Given the description of an element on the screen output the (x, y) to click on. 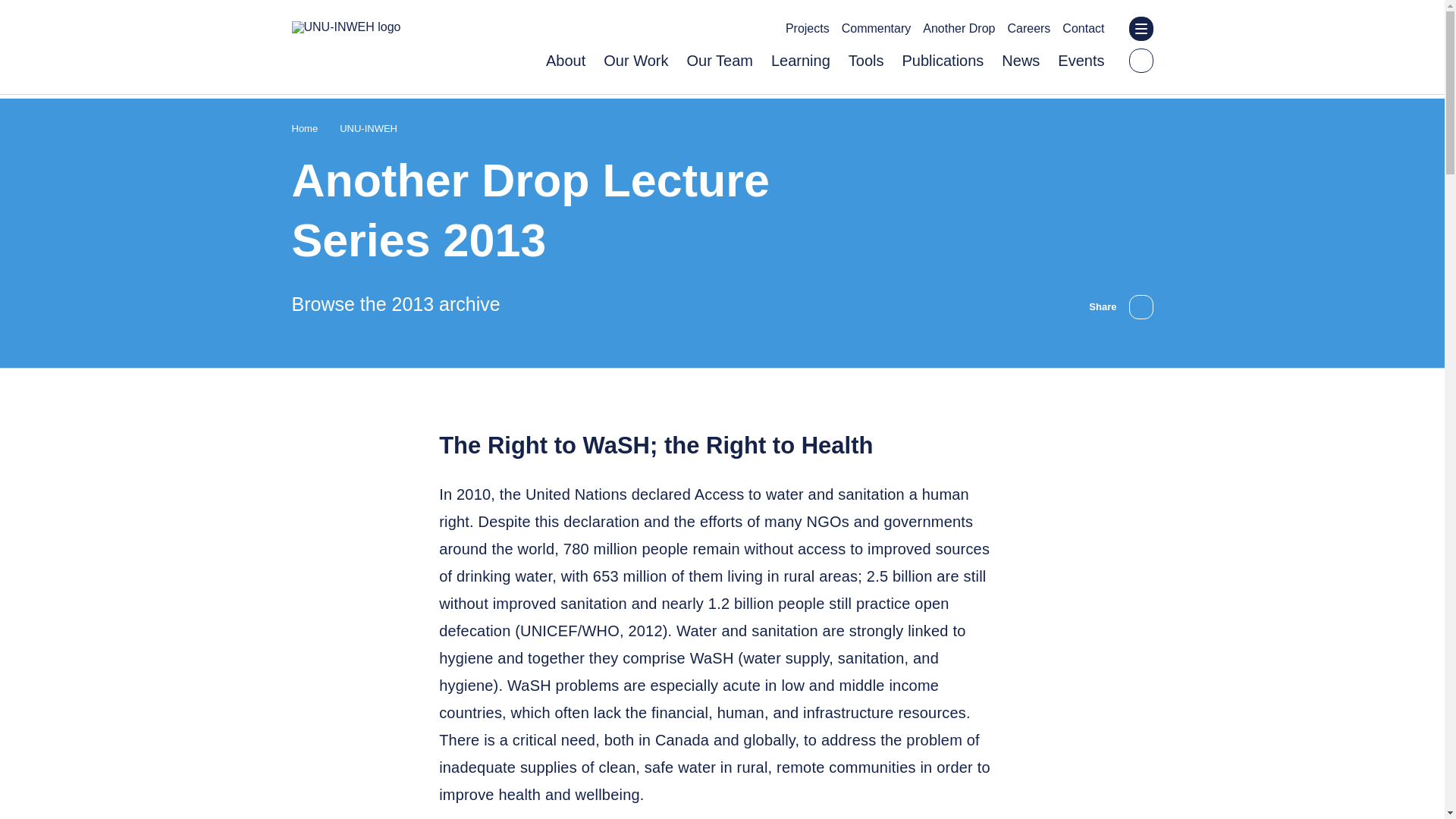
News (1020, 60)
Our Work (636, 60)
Commentary (876, 28)
Our Team (718, 60)
Tools (865, 60)
Another Drop (958, 28)
Projects (807, 28)
Go back to the homepage (345, 26)
Publications (942, 60)
About (565, 60)
Events (1080, 60)
Careers (1028, 28)
Learning (800, 60)
Contact (1082, 28)
